Given the description of an element on the screen output the (x, y) to click on. 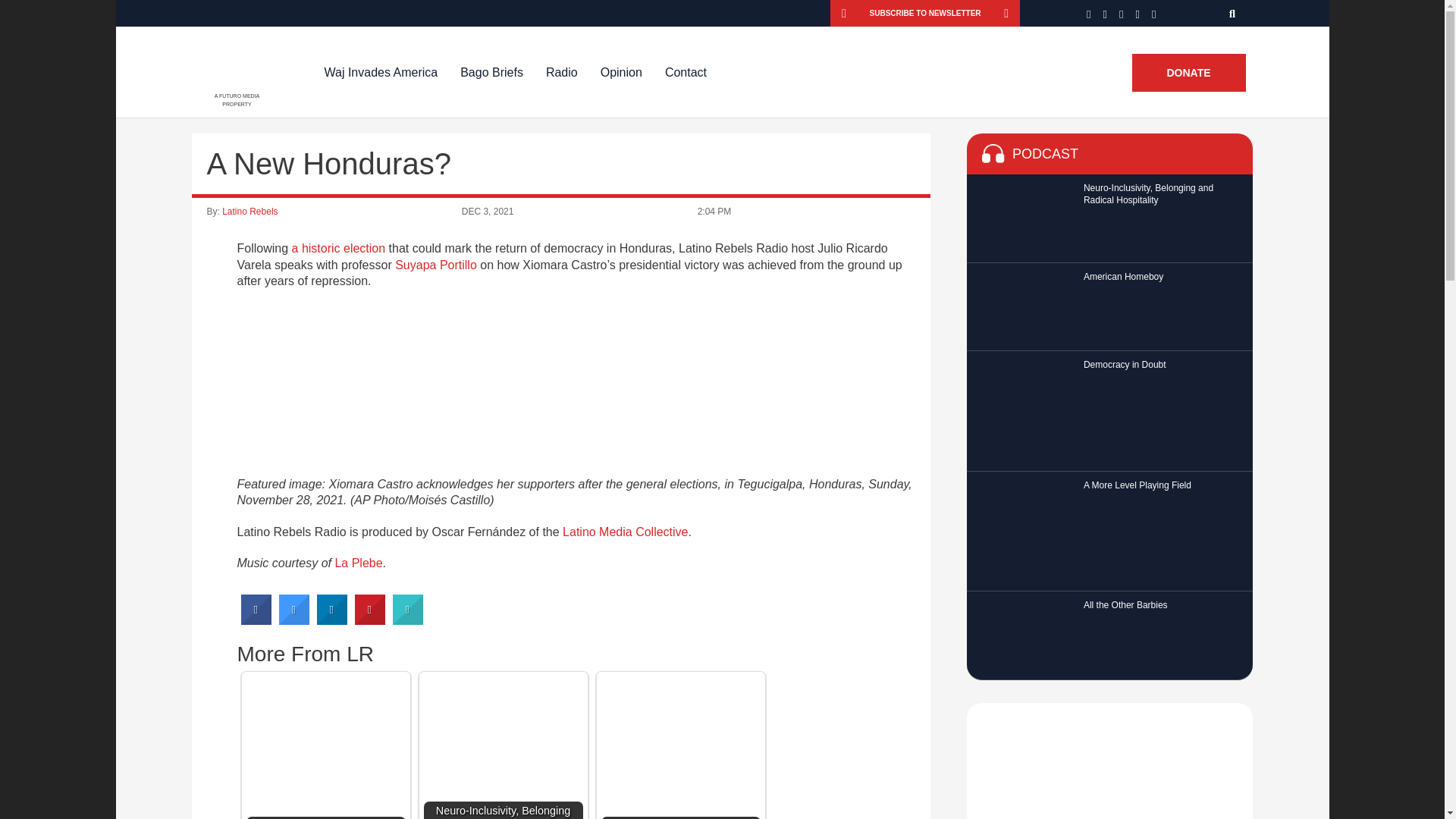
Neuro-Inclusivity, Belonging and Radical Hospitality (502, 747)
Search (1233, 13)
Democracy in Doubt (325, 747)
Waj Invades America (380, 72)
Suyapa Portillo (435, 264)
Latino Media Collective (624, 531)
Share on Pinterest (370, 620)
Latino Rebels (250, 211)
Search (1233, 13)
Share to LinkedIn (332, 620)
Share on Twitter (293, 620)
Subscribe to newsletter (924, 13)
Bago Briefs (491, 72)
Posts by Latino Rebels (250, 211)
Print this page (408, 620)
